Given the description of an element on the screen output the (x, y) to click on. 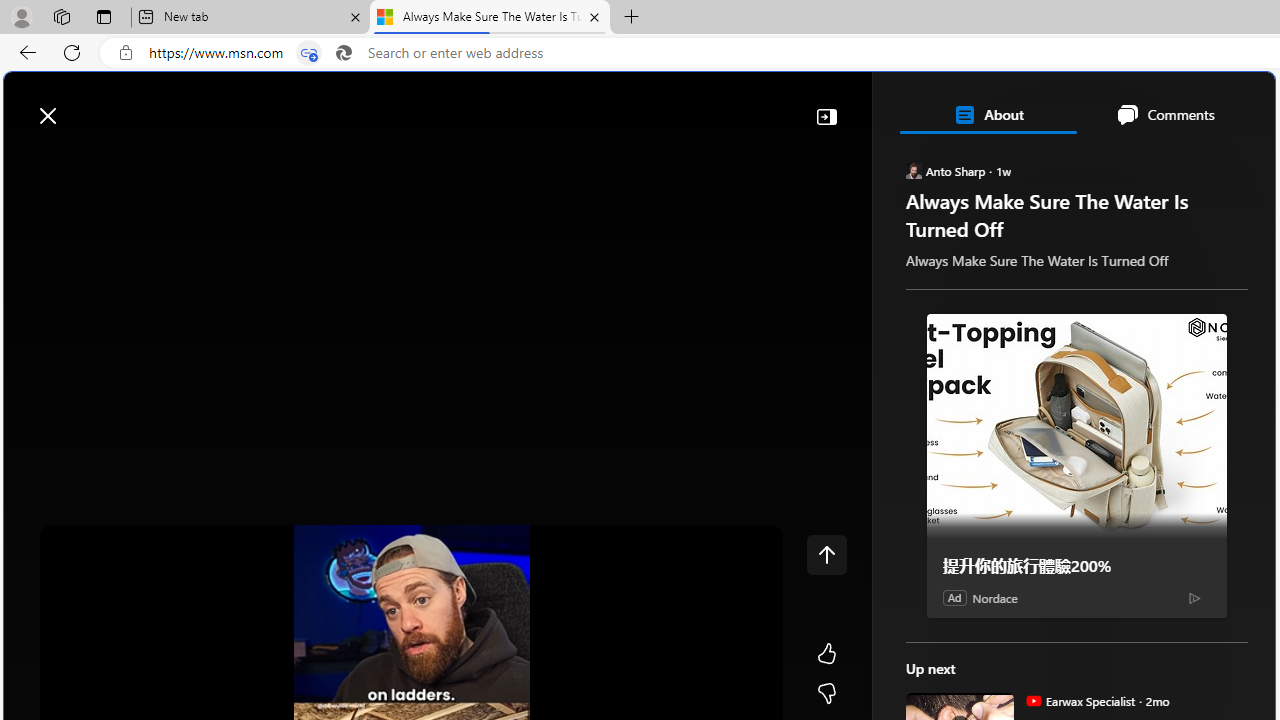
Comments (1165, 114)
The Associated Press (974, 645)
Nordace (994, 597)
Personal Profile (21, 16)
Class: control icon-only (826, 554)
Ad (954, 597)
Workspaces (61, 16)
Microsoft Start (94, 105)
Discover (84, 162)
Anto Sharp (912, 170)
Like (826, 653)
Earwax Specialist Earwax Specialist (1080, 700)
